Given the description of an element on the screen output the (x, y) to click on. 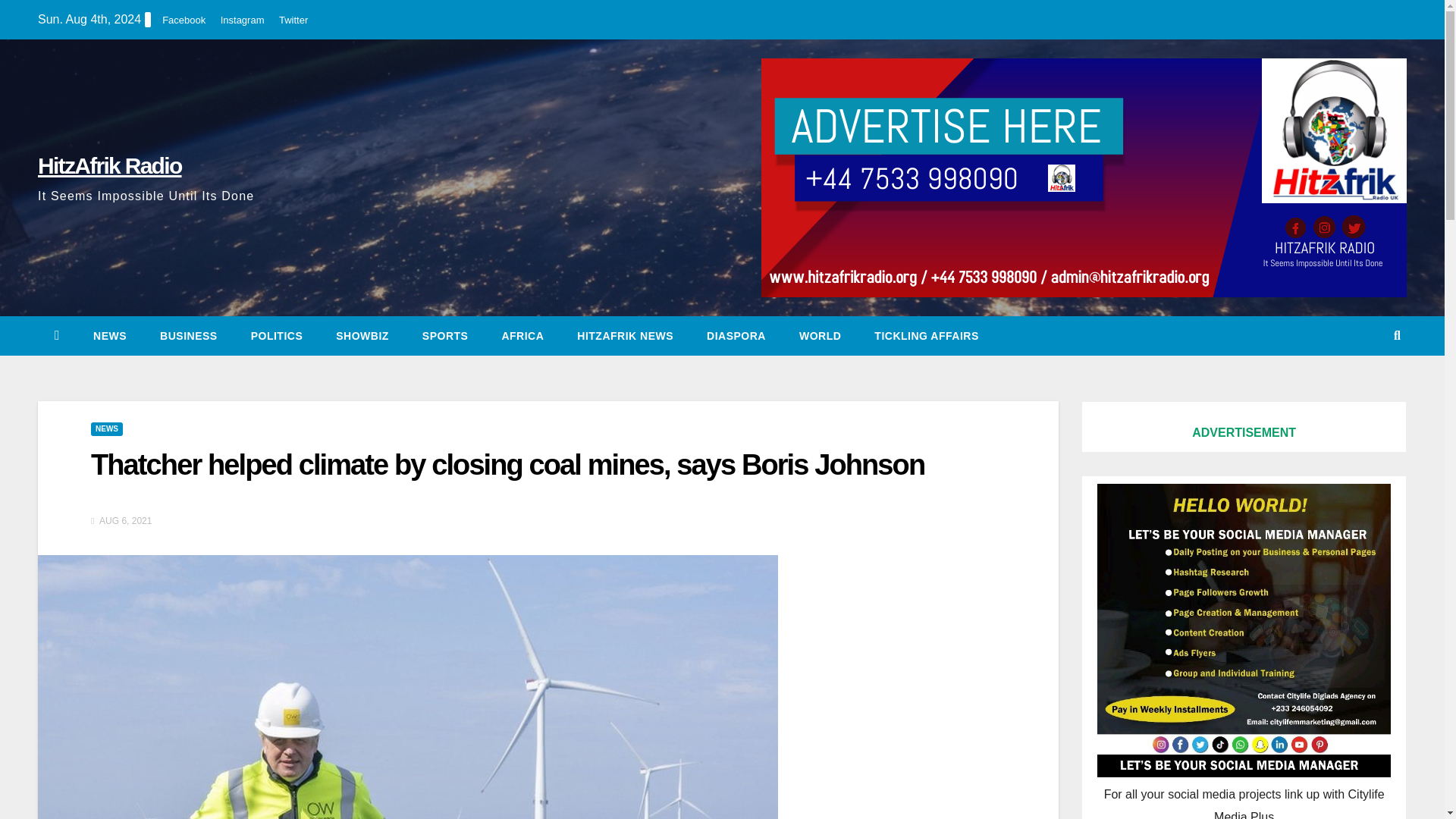
SPORTS (445, 335)
POLITICS (277, 335)
SHOWBIZ (362, 335)
HitzAfrik Radio (109, 165)
Africa (522, 335)
TICKLING AFFAIRS (925, 335)
HITZAFRIK NEWS (625, 335)
Politics (277, 335)
Instagram (242, 19)
HitzAfrik News (625, 335)
Showbiz (362, 335)
AFRICA (522, 335)
DIASPORA (736, 335)
Sports (445, 335)
Diaspora (736, 335)
